Given the description of an element on the screen output the (x, y) to click on. 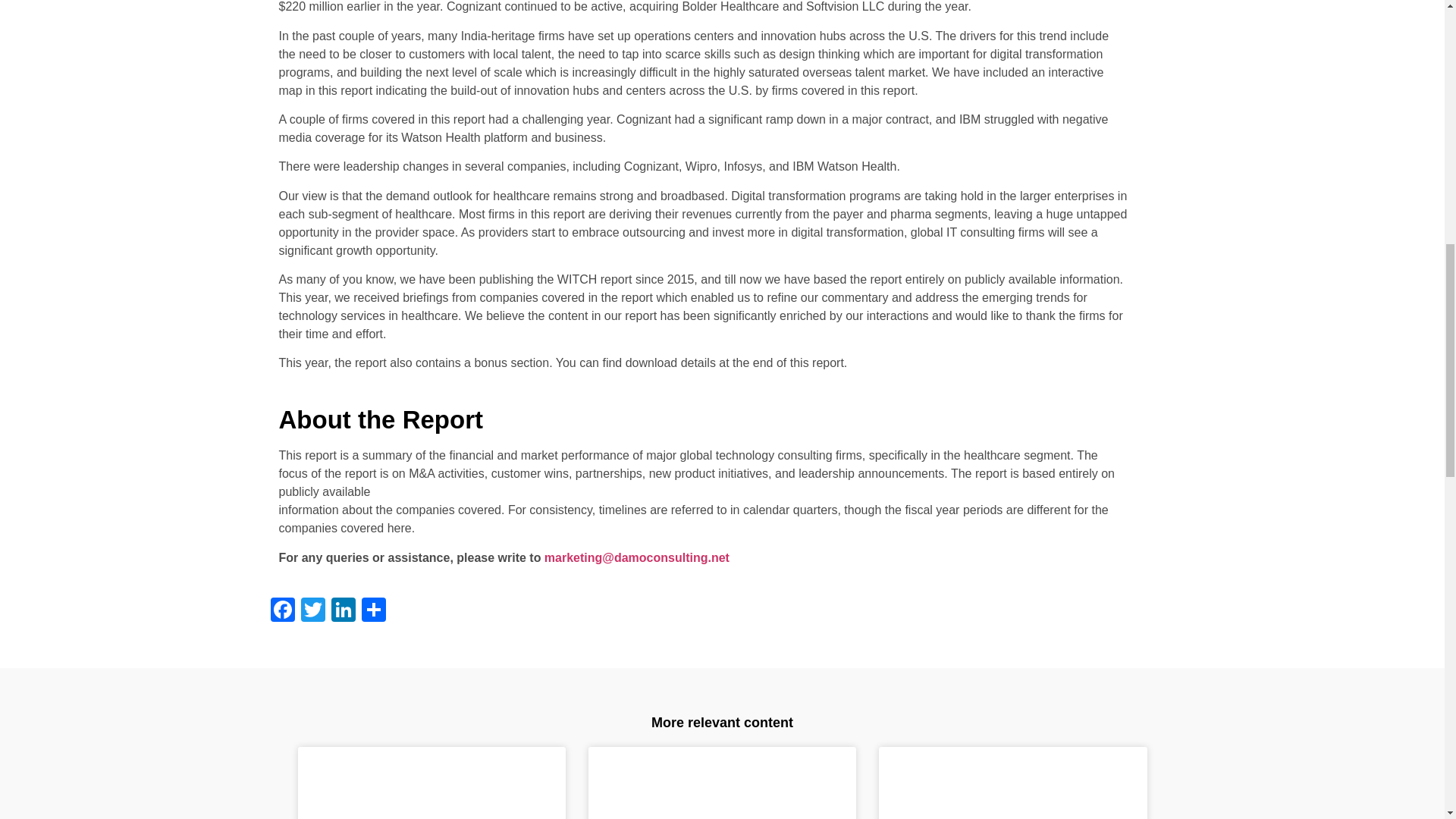
Facebook (281, 611)
LinkedIn (342, 611)
Twitter (312, 611)
